Given the description of an element on the screen output the (x, y) to click on. 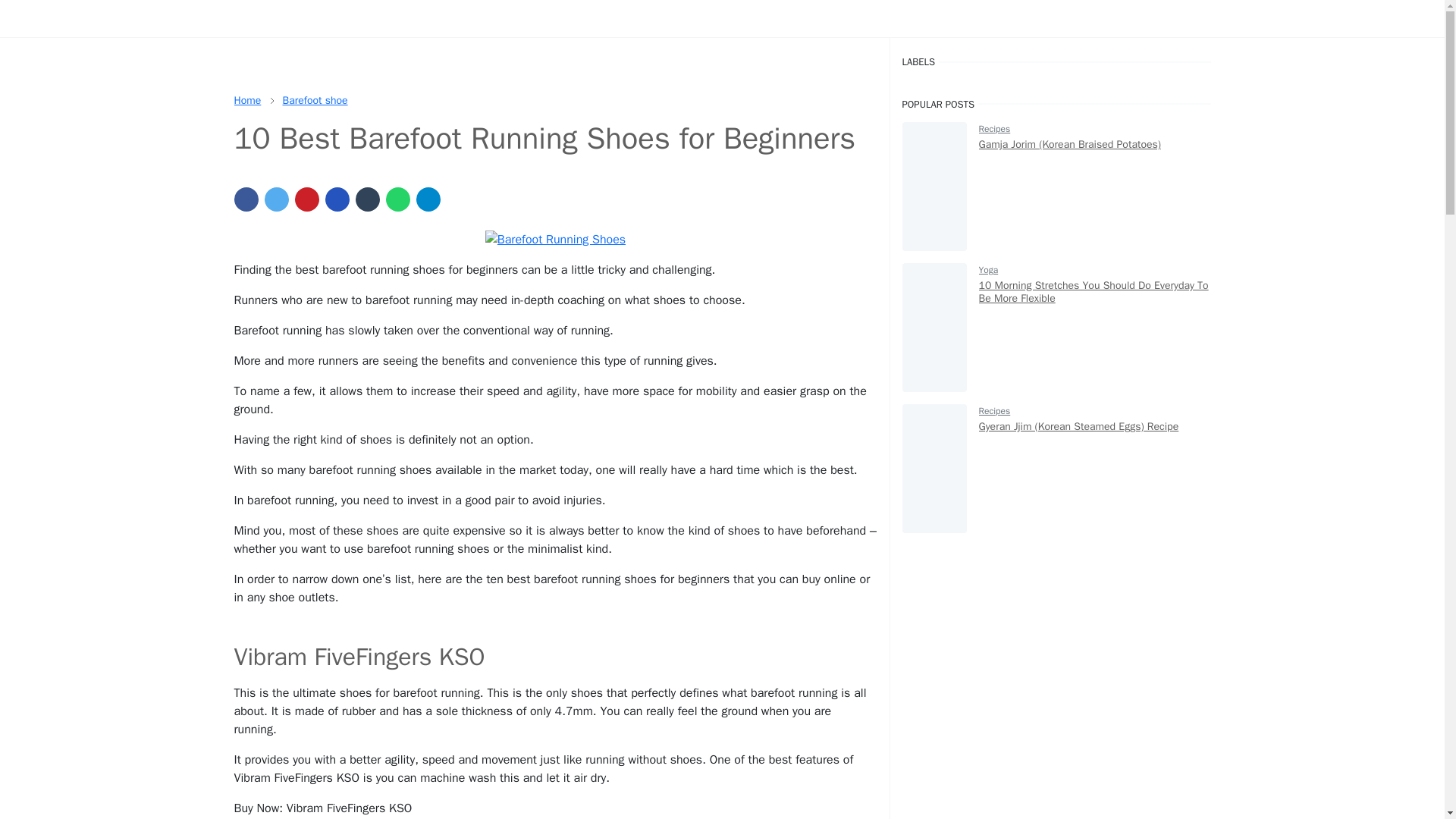
Home (246, 100)
Tweet This (275, 199)
Tumblr Share (366, 199)
Recipes (994, 128)
Recipes (994, 410)
Barefoot shoe (314, 100)
Yoga (988, 269)
Pin It (306, 199)
Share to telegram (426, 199)
Facebook Share (244, 199)
